Given the description of an element on the screen output the (x, y) to click on. 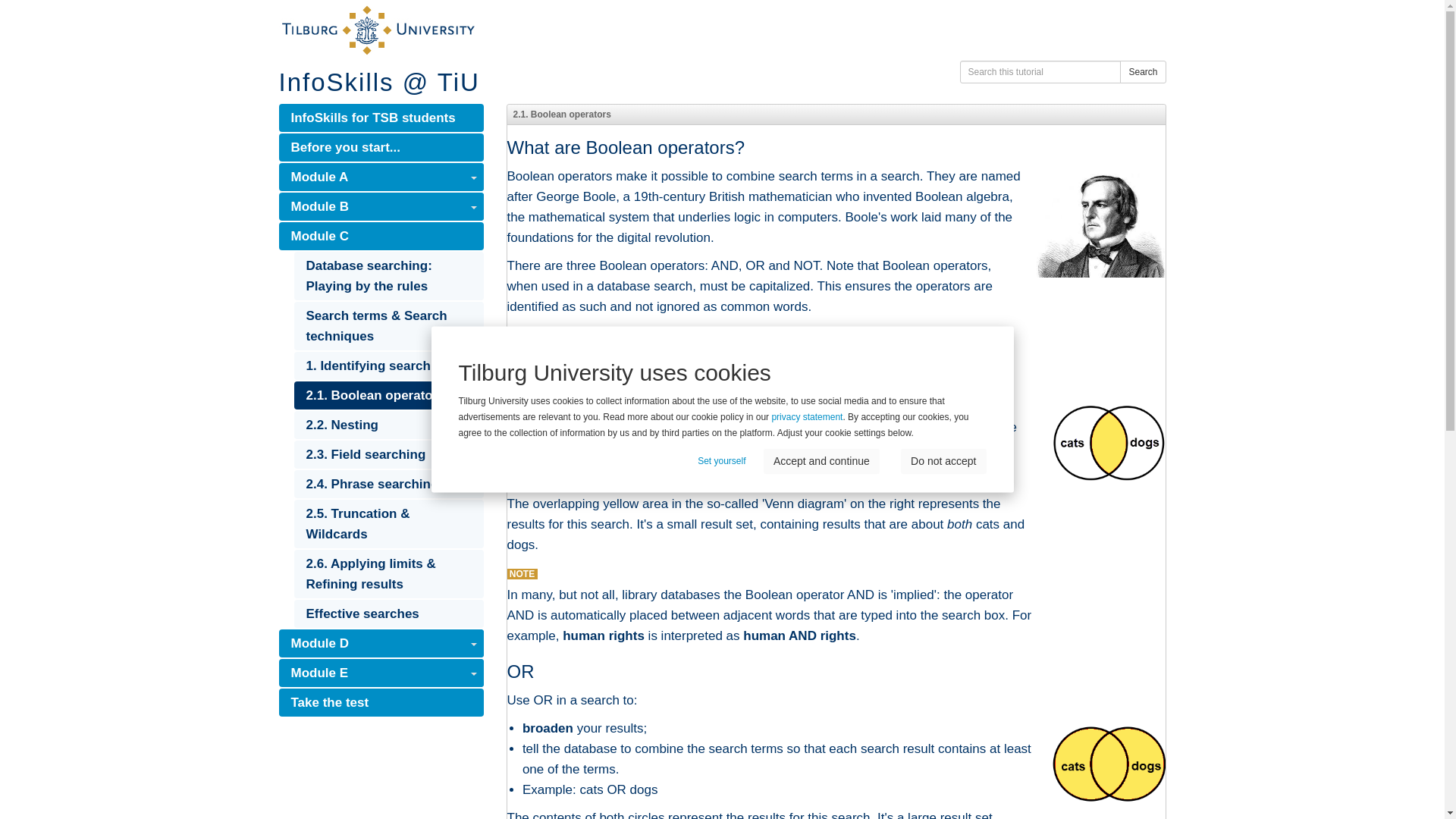
Module B (381, 206)
Module C (381, 235)
Before you start... (381, 147)
1. Identifying search terms (388, 366)
2.4. Phrase searching (388, 483)
InfoSkills for TSB students (381, 117)
Search (1142, 71)
2.1. Boolean operators (388, 395)
2.2. Nesting (388, 424)
2.3. Field searching (388, 454)
Module A (381, 176)
Database searching: Playing by the rules (388, 275)
